Given the description of an element on the screen output the (x, y) to click on. 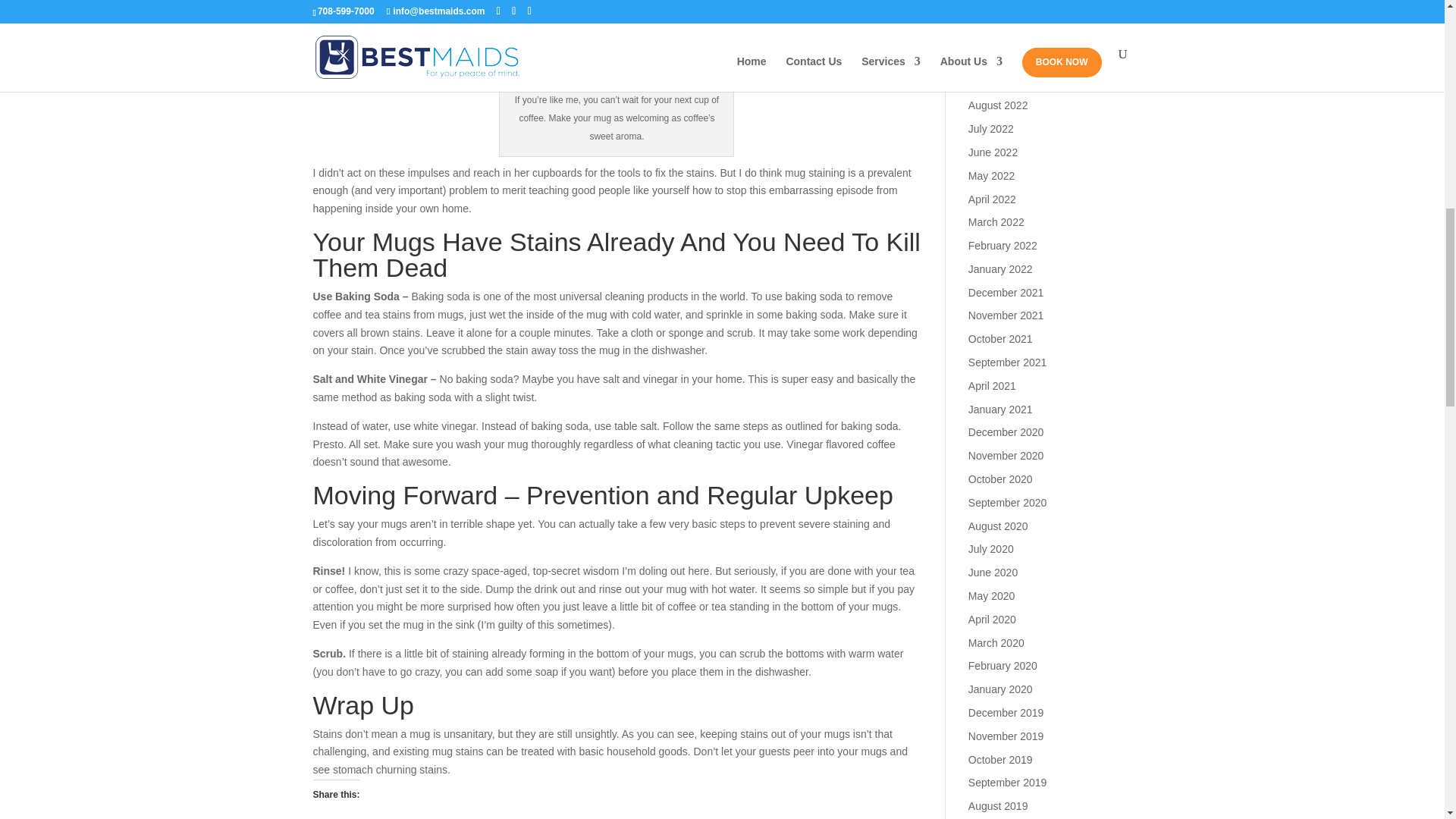
Share on Tumblr (392, 817)
Share on Tumblr (392, 817)
Tweet (332, 817)
